Given the description of an element on the screen output the (x, y) to click on. 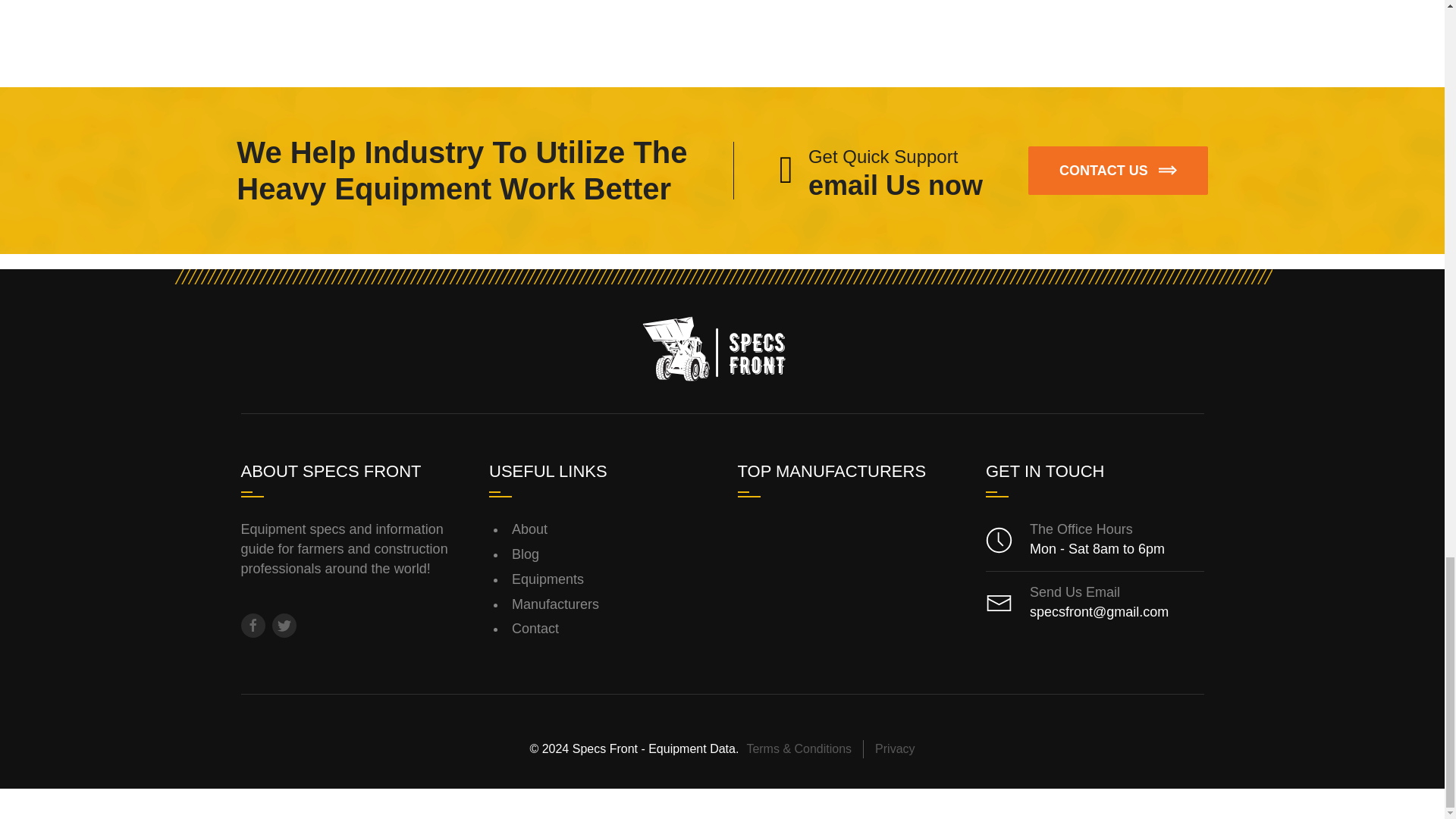
Equipments (609, 580)
CONTACT US (1117, 170)
Manufacturers (880, 170)
About (609, 604)
Blog (609, 530)
Contact (609, 554)
Privacy (609, 629)
